Given the description of an element on the screen output the (x, y) to click on. 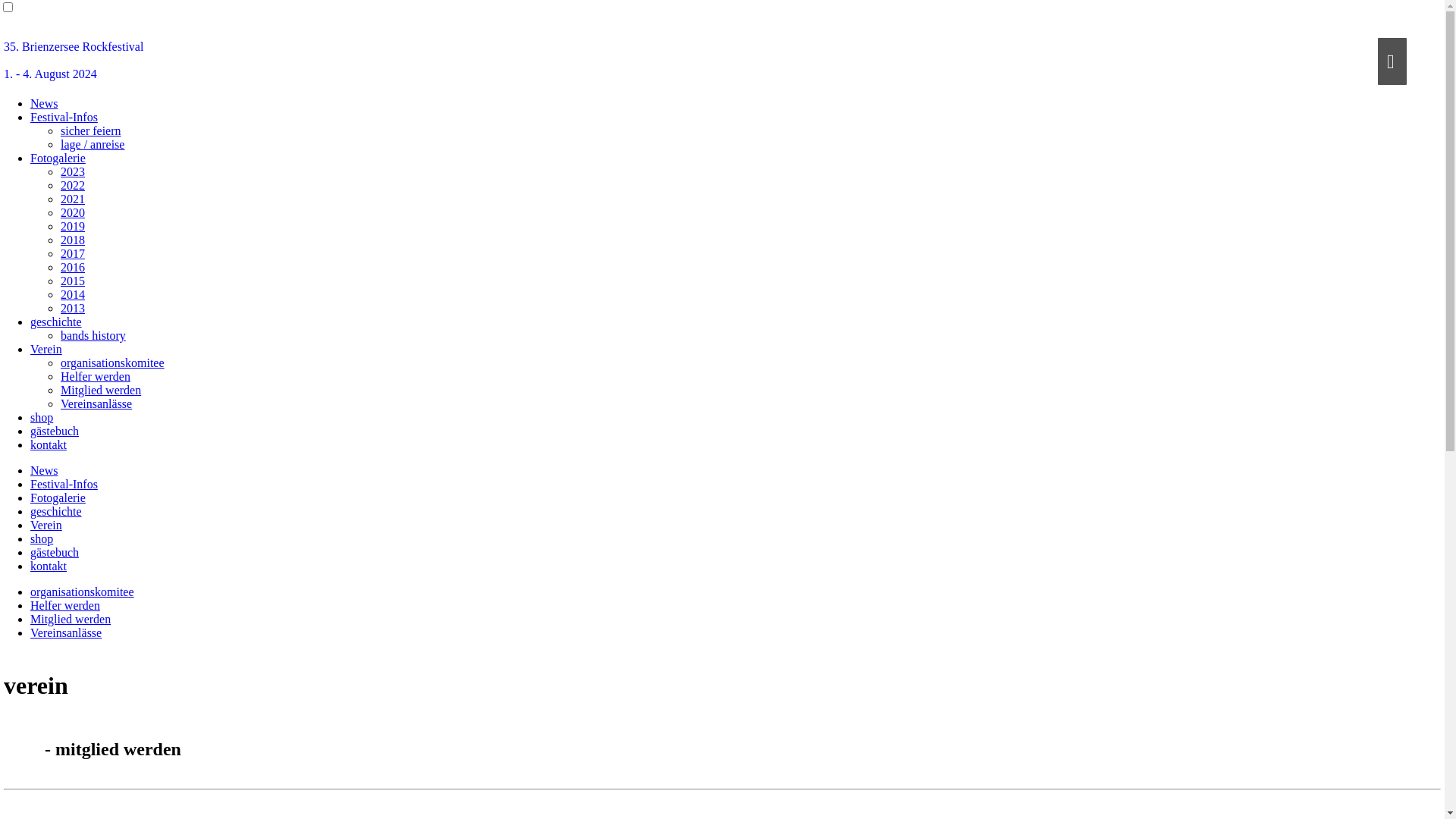
35. Brienzersee Rockfestival

1. - 4. August 2024 Element type: text (721, 60)
geschichte Element type: text (55, 321)
2023 Element type: text (72, 171)
Verein Element type: text (46, 524)
2020 Element type: text (72, 212)
Verein Element type: text (46, 348)
organisationskomitee Element type: text (112, 362)
2014 Element type: text (72, 294)
Helfer werden Element type: text (95, 376)
geschichte Element type: text (55, 511)
shop Element type: text (41, 538)
2021 Element type: text (72, 198)
Festival-Infos Element type: text (63, 483)
Mitglied werden Element type: text (70, 618)
2013 Element type: text (72, 307)
2018 Element type: text (72, 239)
2015 Element type: text (72, 280)
News Element type: text (43, 470)
shop Element type: text (41, 417)
Fotogalerie Element type: text (57, 497)
Fotogalerie Element type: text (57, 157)
2022 Element type: text (72, 184)
2017 Element type: text (72, 253)
Mitglied werden Element type: text (100, 389)
organisationskomitee Element type: text (82, 591)
Festival-Infos Element type: text (63, 116)
News Element type: text (43, 103)
2019 Element type: text (72, 225)
lage / anreise Element type: text (92, 144)
sicher feiern Element type: text (90, 130)
2016 Element type: text (72, 266)
bands history Element type: text (92, 335)
kontakt Element type: text (48, 565)
Helfer werden Element type: text (65, 605)
kontakt Element type: text (48, 444)
